Given the description of an element on the screen output the (x, y) to click on. 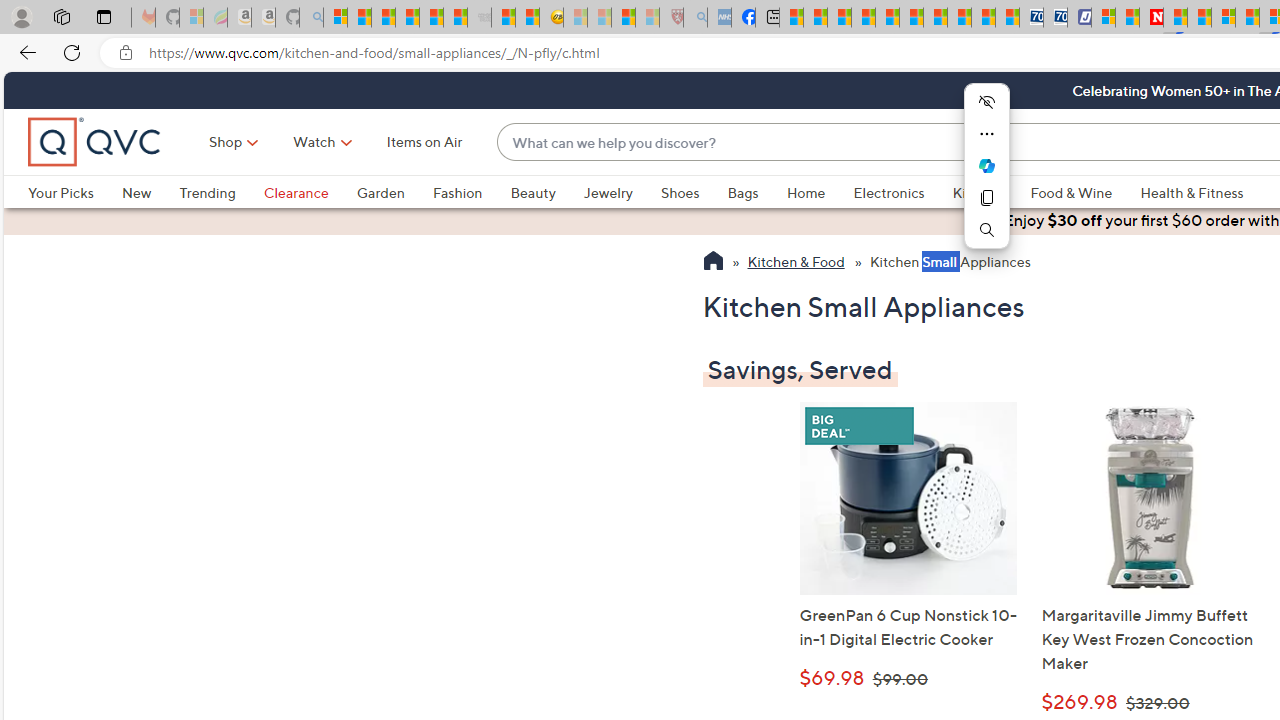
More actions (986, 133)
New Report Confirms 2023 Was Record Hot | Watch (430, 17)
Trending (221, 192)
Shoes (680, 192)
Microsoft-Report a Concern to Bing - Sleeping (191, 17)
Items on Air (424, 141)
Bags (757, 192)
Bags (743, 192)
QVC home (95, 141)
Trending (207, 192)
Fashion (457, 192)
